Given the description of an element on the screen output the (x, y) to click on. 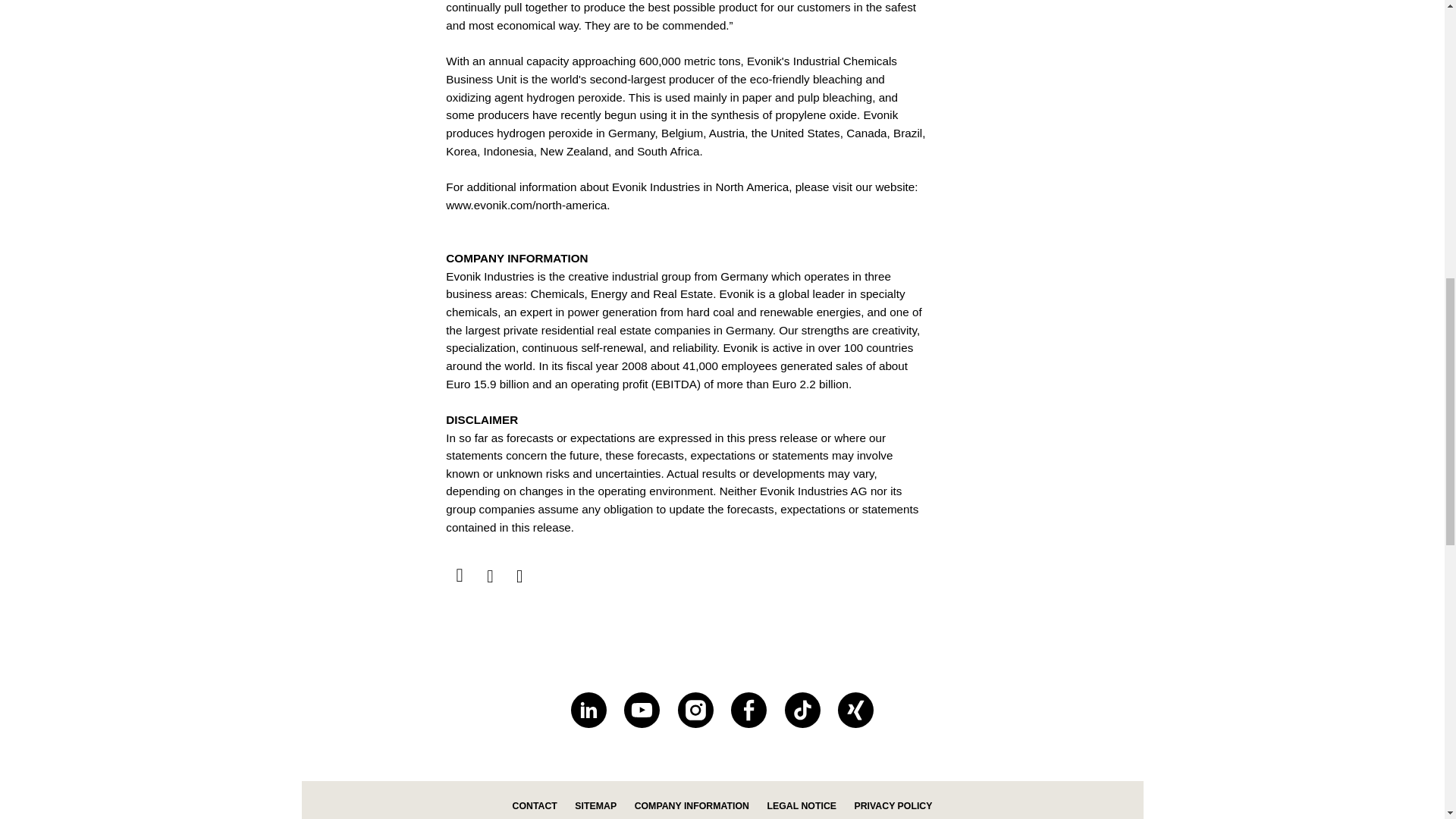
CONTACT (534, 805)
COMPANY INFORMATION (691, 805)
SITEMAP (595, 805)
PRIVACY POLICY (892, 805)
LEGAL NOTICE (801, 805)
Share article through email (490, 577)
Read out article (459, 575)
Copy article link to clipboard (519, 577)
